Given the description of an element on the screen output the (x, y) to click on. 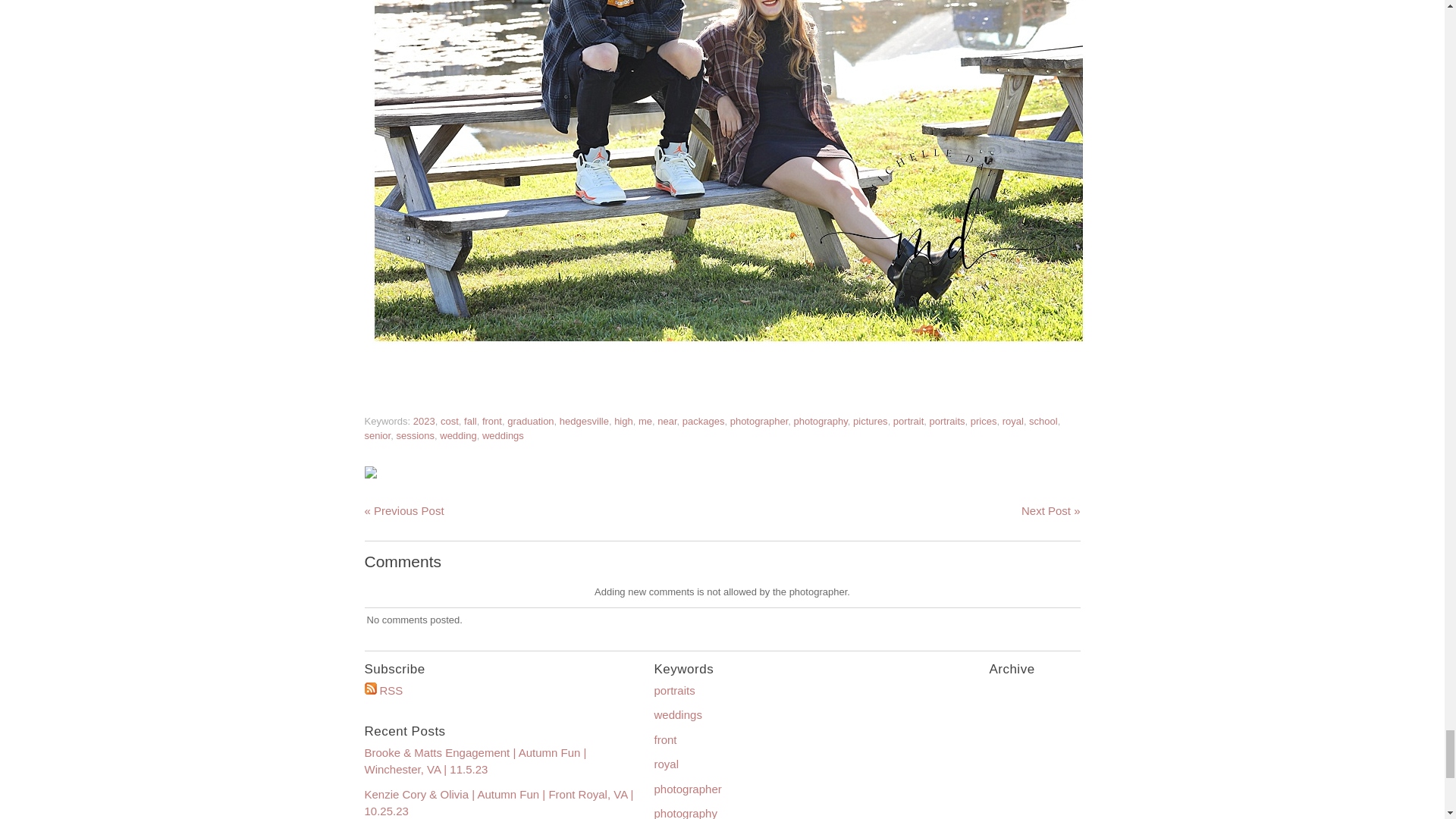
photographer (759, 420)
pictures (870, 420)
portraits (947, 420)
2023 (424, 420)
high (623, 420)
photography (820, 420)
hedgesville (583, 420)
portrait (908, 420)
packages (703, 420)
front (491, 420)
near (667, 420)
fall (470, 420)
graduation (529, 420)
cost (449, 420)
me (645, 420)
